Given the description of an element on the screen output the (x, y) to click on. 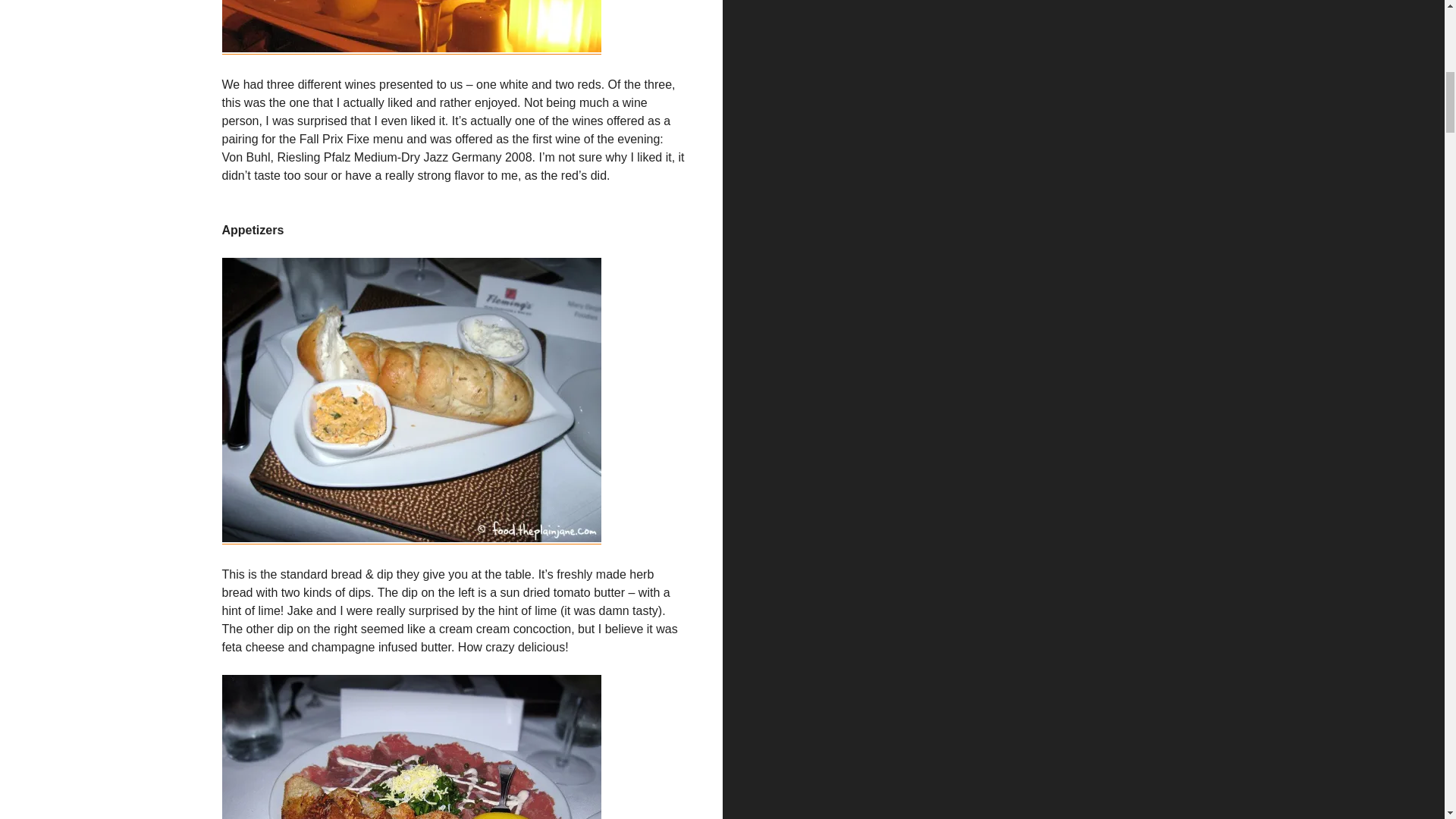
Bread and Dip (410, 399)
Von Buhl Riesling Pfalz Medium Dry Jazz Germany 2008 (410, 26)
